Given the description of an element on the screen output the (x, y) to click on. 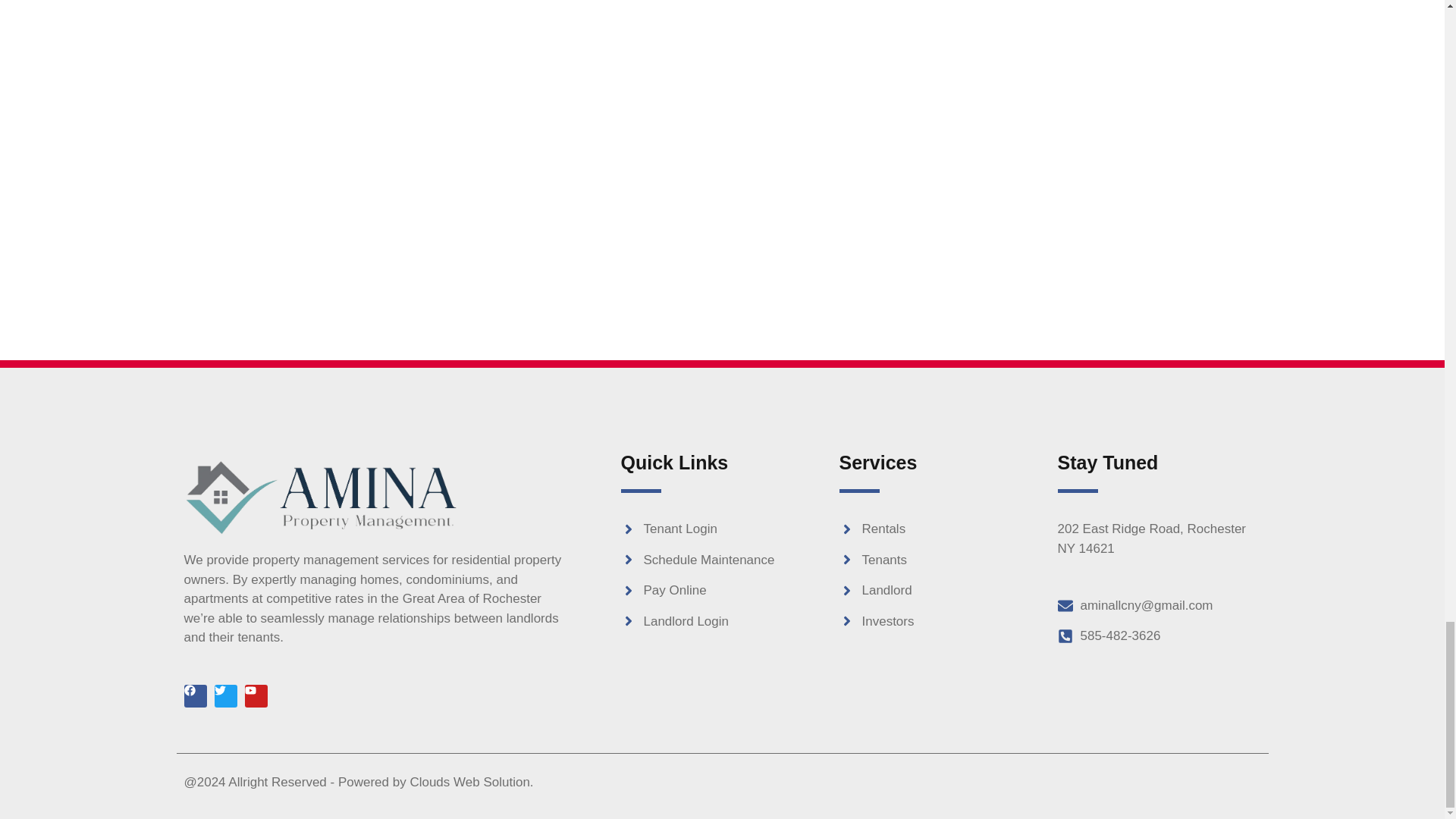
Youtube (255, 695)
Pay Online (722, 590)
Facebook (194, 695)
Landlord Login (722, 621)
Twitter (224, 695)
Tenants (940, 560)
Landlord (940, 590)
Rentals (940, 528)
Tenant Login (722, 528)
Investors (940, 621)
